Given the description of an element on the screen output the (x, y) to click on. 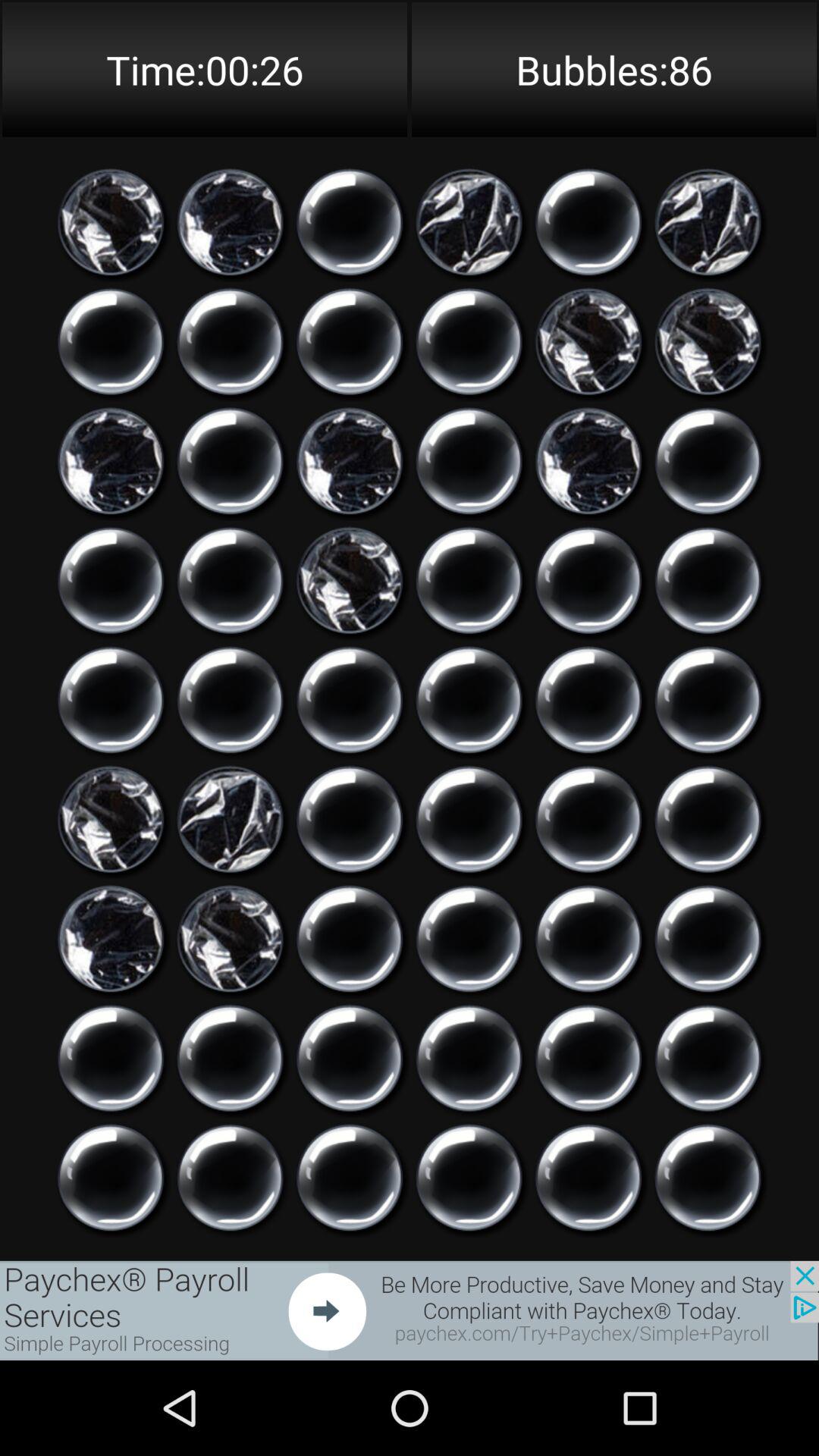
pop this bubble (468, 222)
